Given the description of an element on the screen output the (x, y) to click on. 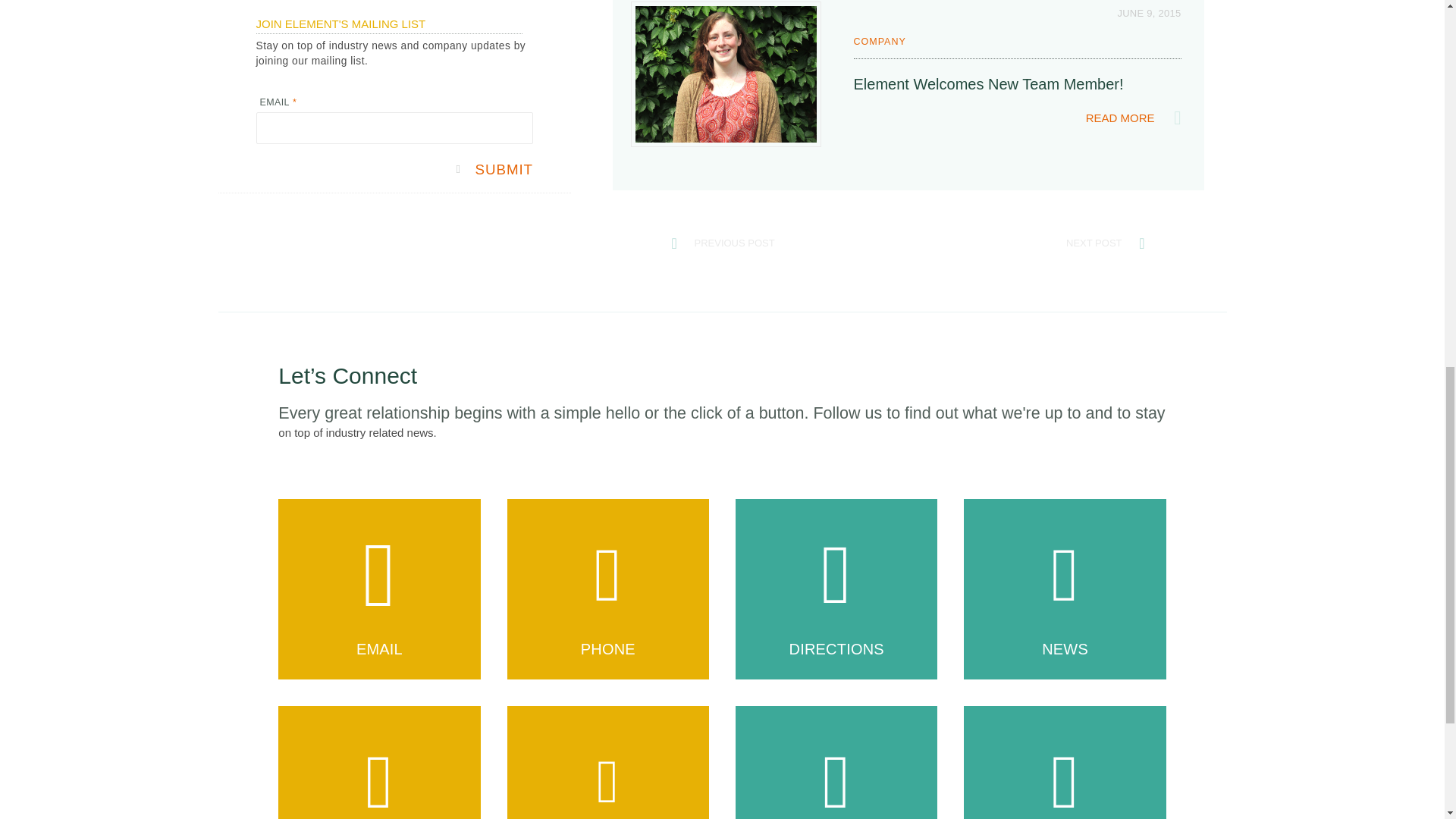
LINKED IN (607, 762)
Element Welcomes New Team Member! (725, 73)
EMAIL (379, 588)
NEXT POST (1093, 242)
COMPANY (879, 42)
PHONE (607, 588)
Element Welcomes New Team Member! (988, 91)
Submit (492, 169)
RSS FEED (1064, 762)
NEWS (1064, 588)
GOOGLE PLUS (836, 762)
PREVIOUS POST (734, 242)
View all posts in Company (879, 42)
TWITTER (379, 762)
DIRECTIONS (836, 588)
